Given the description of an element on the screen output the (x, y) to click on. 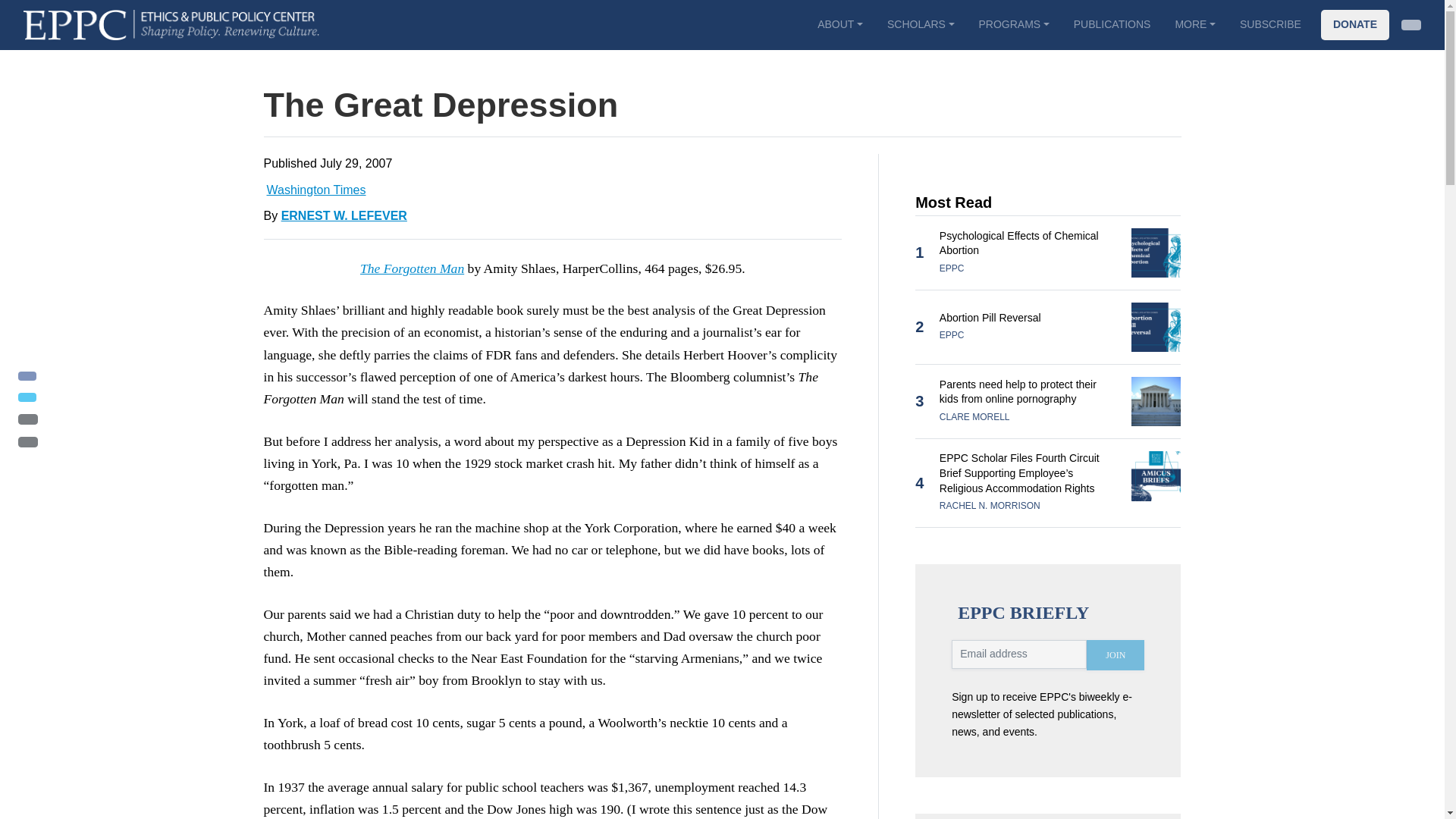
JOIN (1115, 654)
ABOUT (840, 24)
SCHOLARS (920, 24)
